Given the description of an element on the screen output the (x, y) to click on. 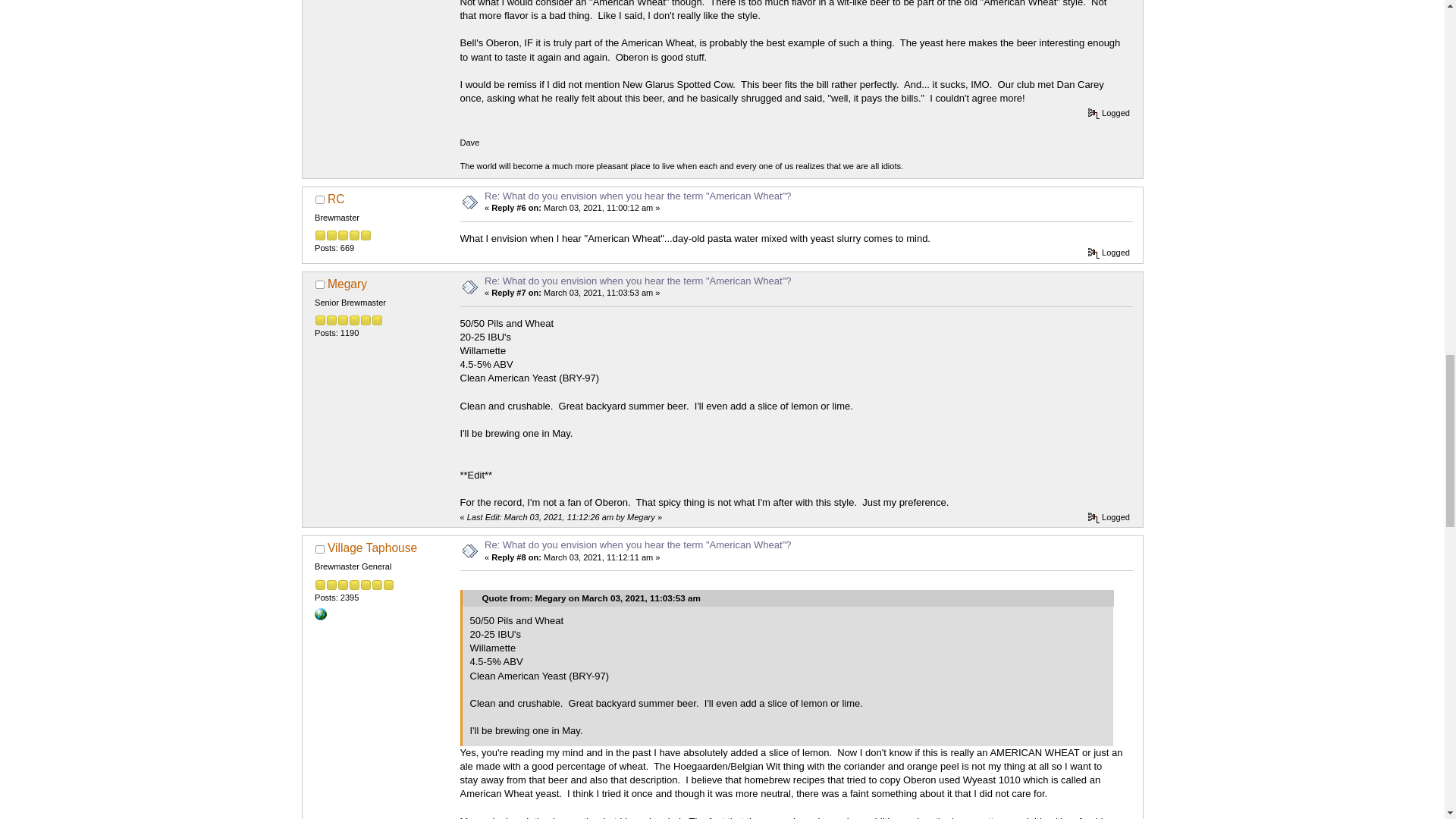
View the profile of Megary (346, 283)
The new Mayfair Court Brewhouse (320, 613)
View the profile of RC (336, 198)
View the profile of Village Taphouse (371, 547)
